Given the description of an element on the screen output the (x, y) to click on. 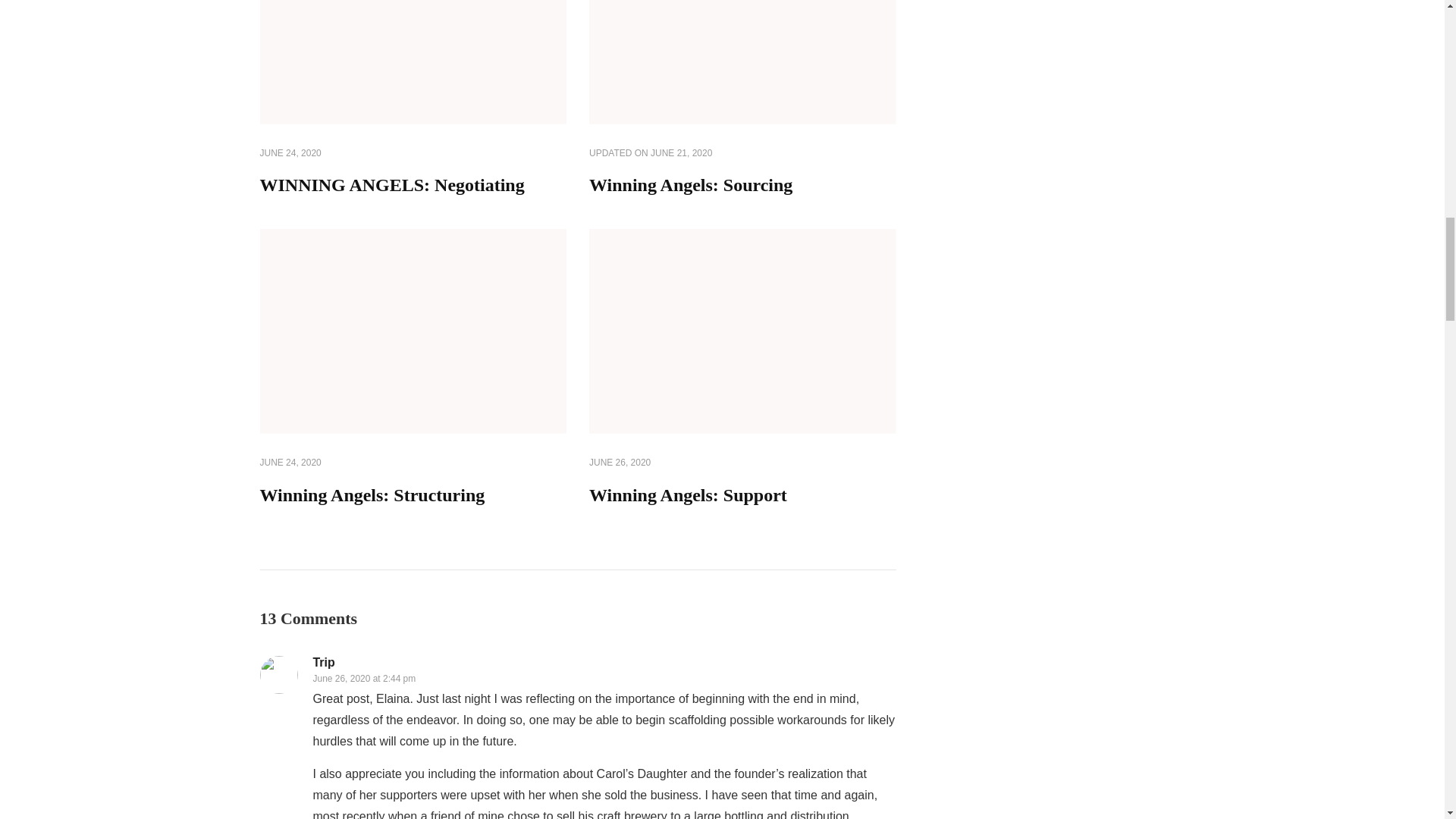
June 26, 2020 at 2:44 pm (363, 678)
WINNING ANGELS: Negotiating (391, 184)
Winning Angels: Support (688, 495)
JUNE 24, 2020 (289, 153)
JUNE 26, 2020 (619, 463)
Winning Angels: Structuring (371, 495)
Winning Angels: Sourcing (690, 184)
JUNE 24, 2020 (289, 463)
JUNE 21, 2020 (680, 153)
